Given the description of an element on the screen output the (x, y) to click on. 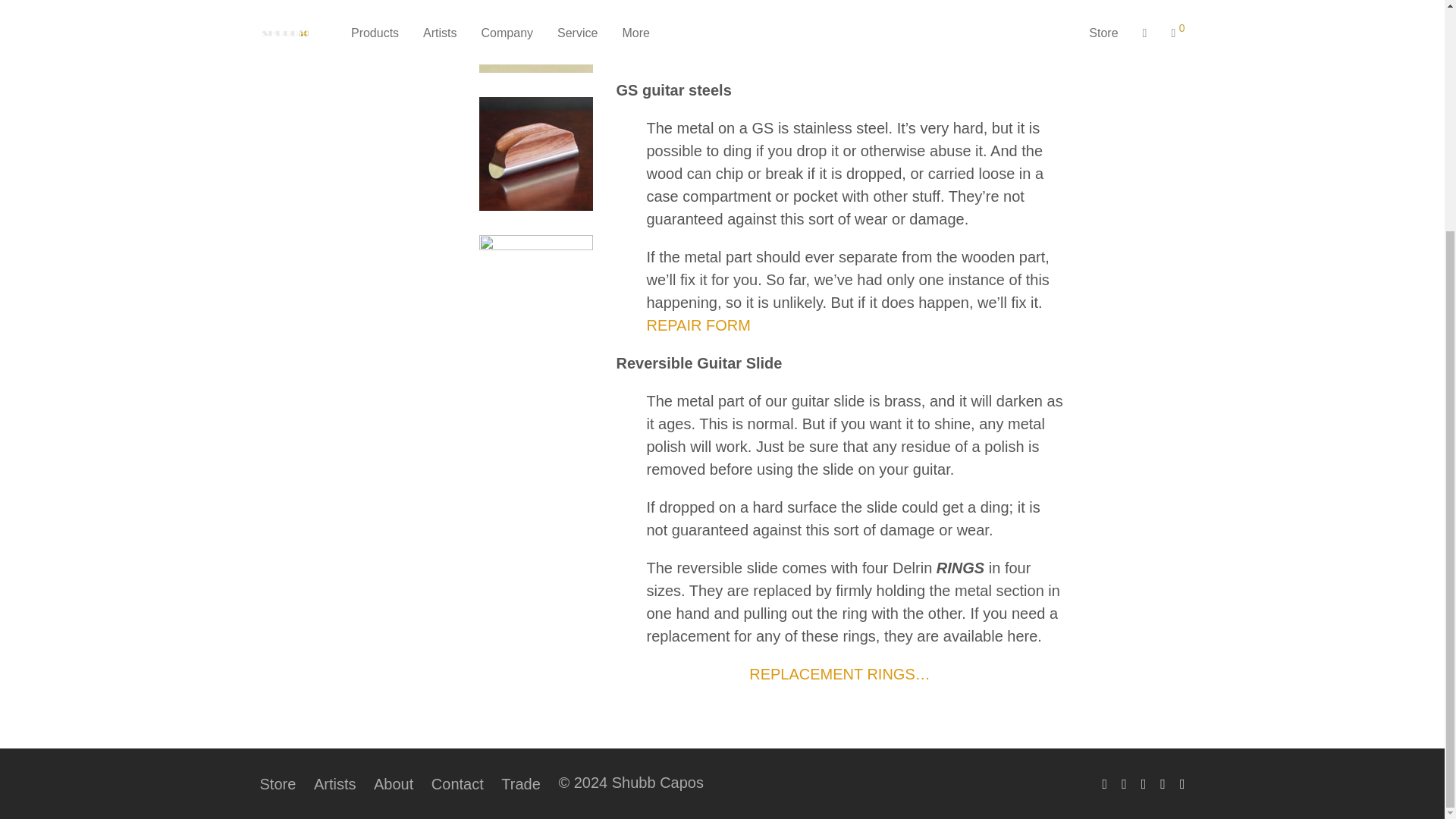
Store (277, 784)
REPAIR FORM (697, 324)
contact us. (731, 52)
